Given the description of an element on the screen output the (x, y) to click on. 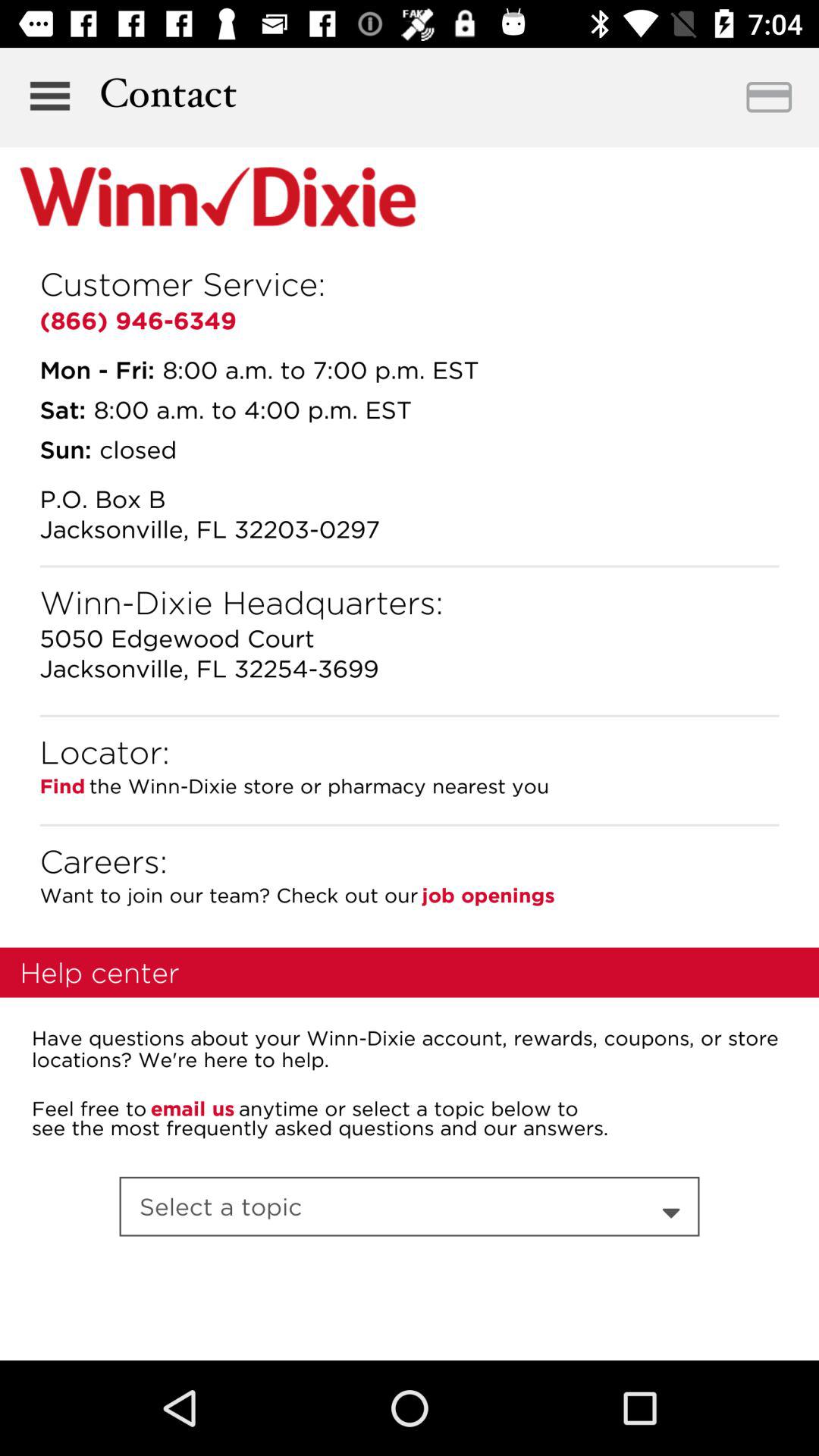
scroll to the see the most icon (319, 1127)
